Given the description of an element on the screen output the (x, y) to click on. 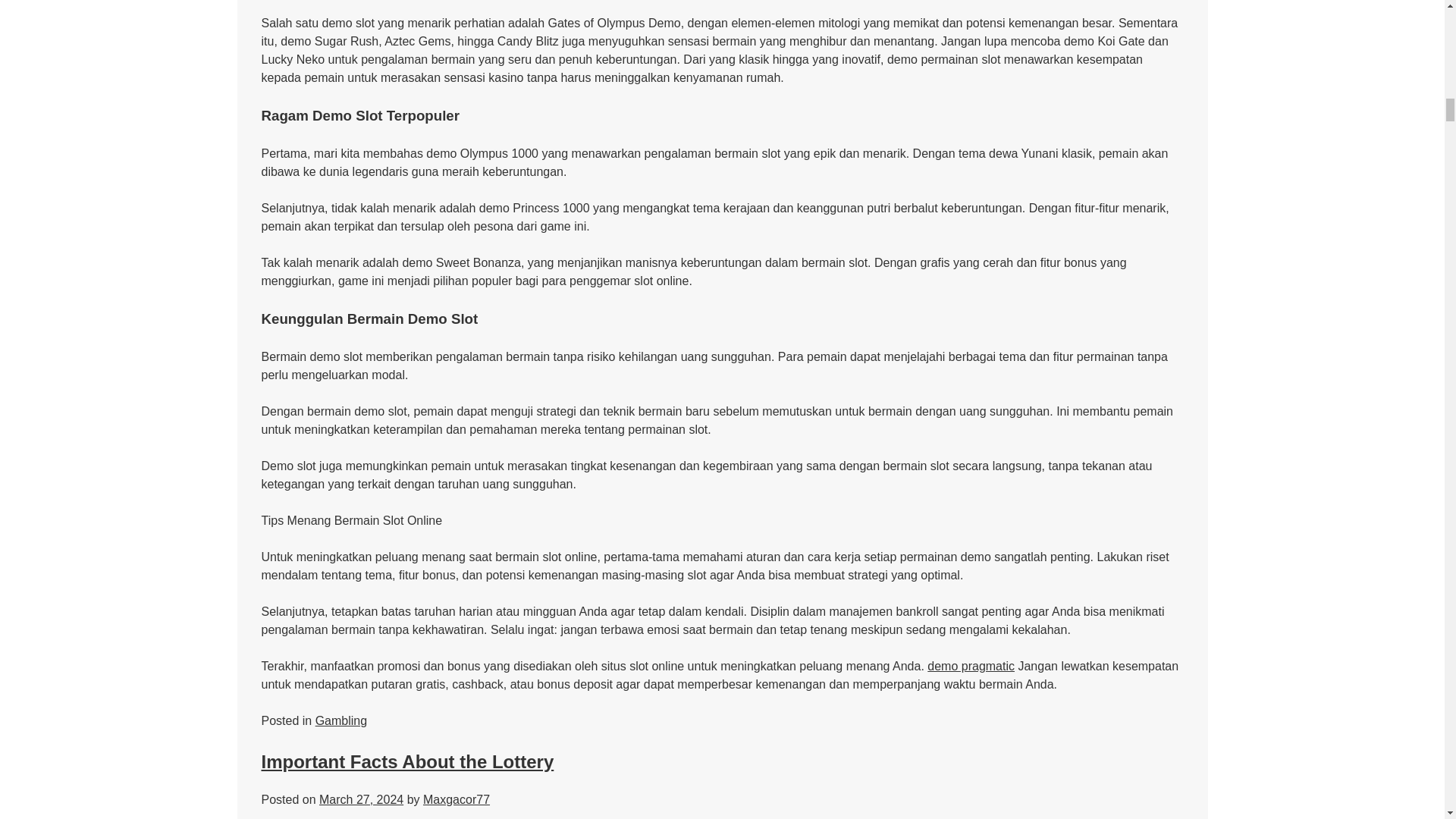
Gambling (340, 720)
March 27, 2024 (360, 799)
demo pragmatic (970, 666)
Important Facts About the Lottery (406, 761)
Maxgacor77 (456, 799)
